Given the description of an element on the screen output the (x, y) to click on. 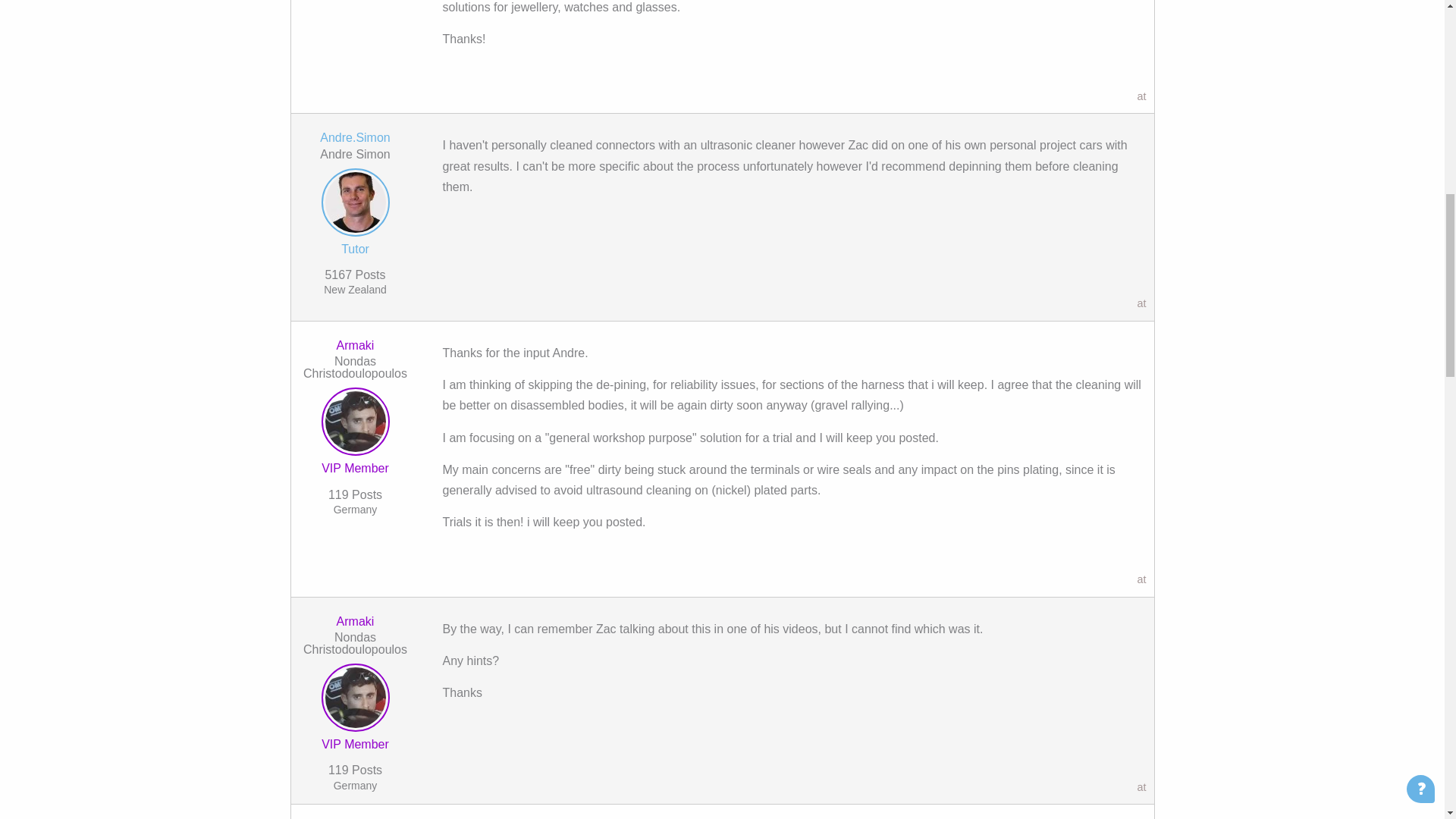
Click here to view Armaki  (355, 621)
Click here to view Armaki  (355, 345)
Click here to view Armaki  (355, 424)
Click here to view Andre.Simon (355, 205)
Click here to view Armaki  (355, 700)
Click here to view Andre.Simon (355, 137)
